Given the description of an element on the screen output the (x, y) to click on. 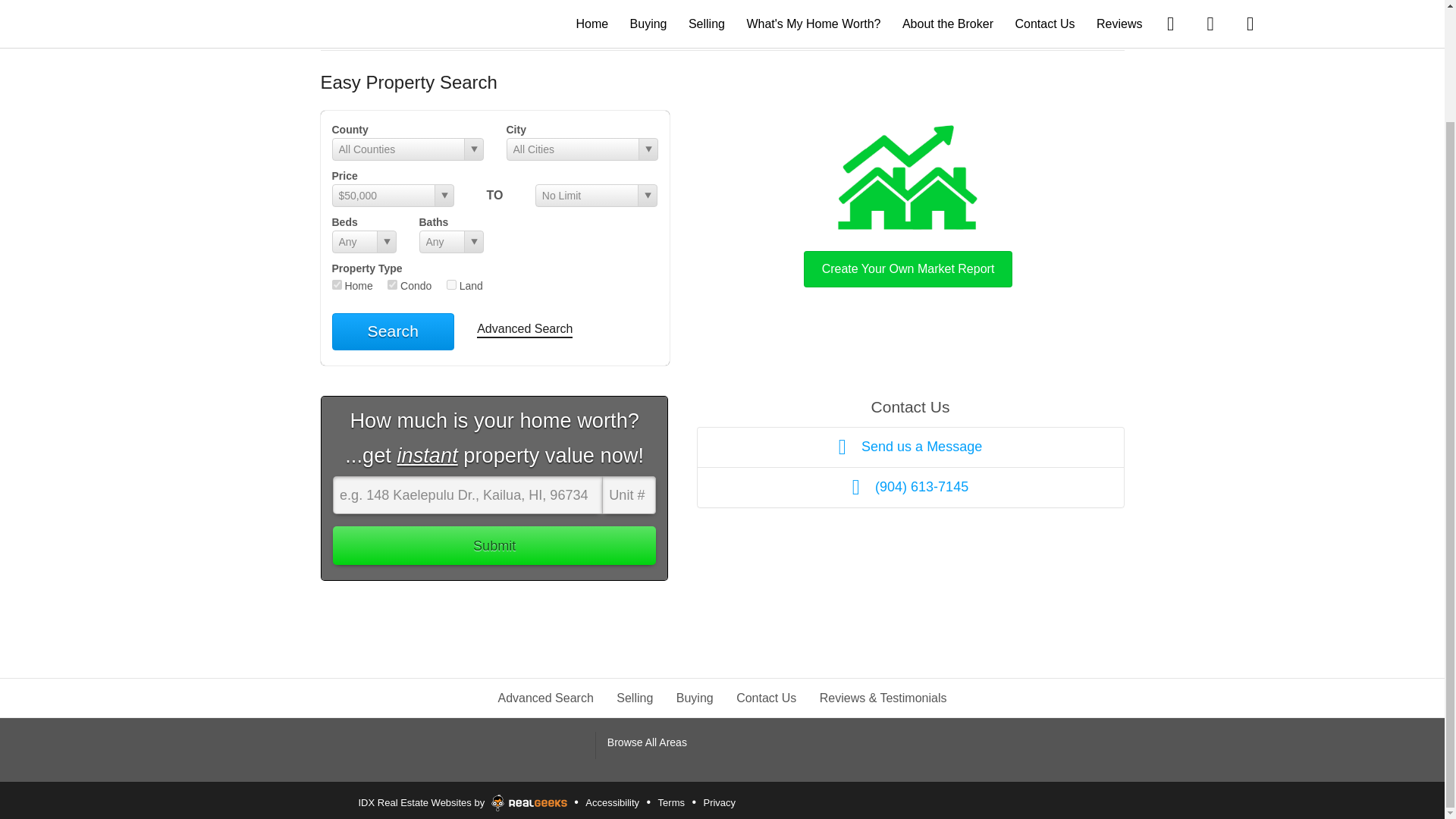
con (392, 284)
Privacy (718, 802)
res (336, 284)
Buying (695, 697)
Accessibility (611, 802)
Search (392, 330)
Selling (633, 697)
Create Your Own Market Report (907, 202)
Advanced Search (544, 697)
Browse All Areas (647, 742)
IDX Real Estate Websites by (462, 799)
Send us a Message (909, 446)
Search (392, 330)
Contact Us (766, 697)
lnd (451, 284)
